Given the description of an element on the screen output the (x, y) to click on. 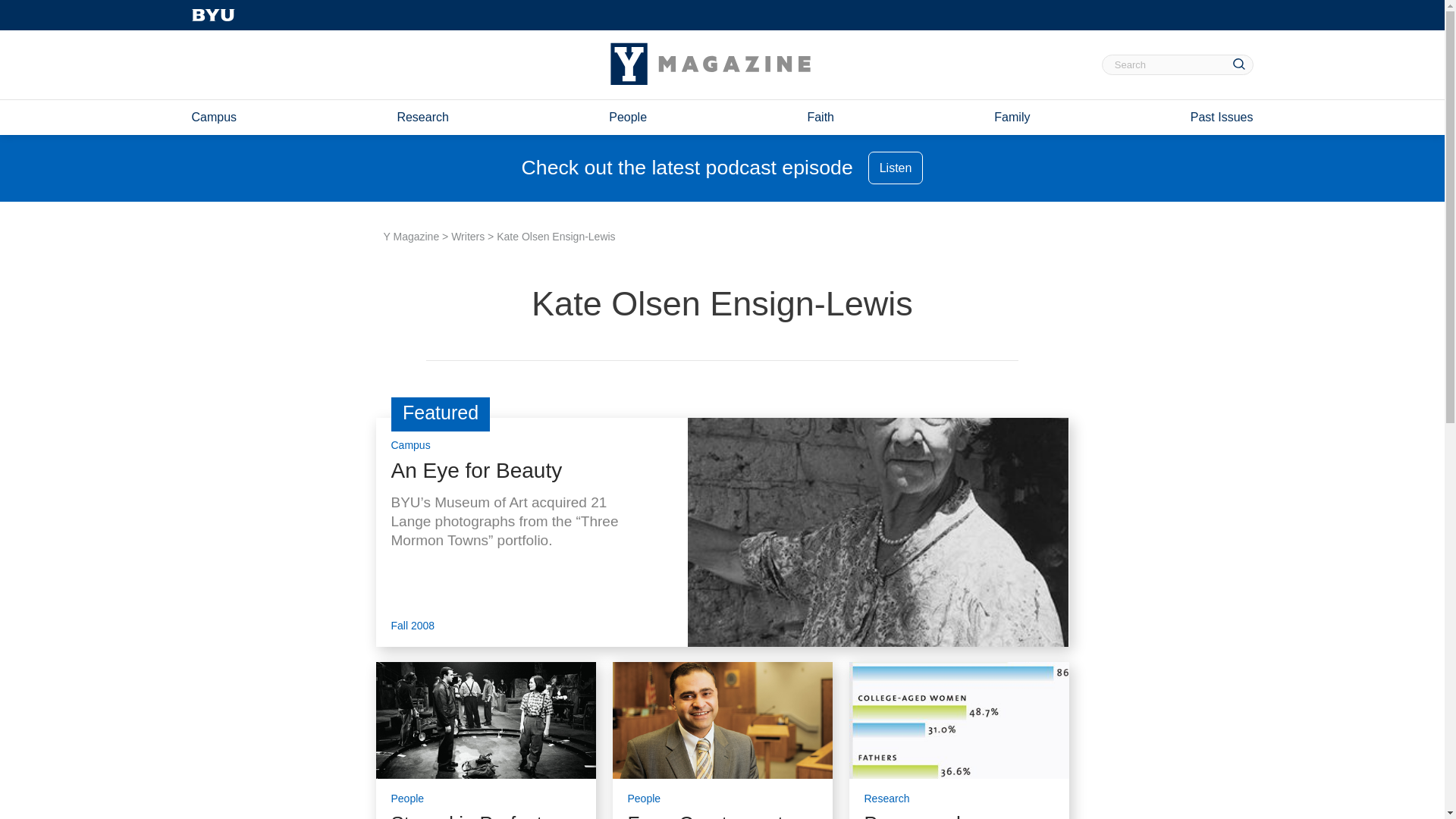
Check out the latest podcast episode (687, 167)
People (644, 794)
Research (887, 794)
Campus (410, 437)
Writers (467, 236)
Listen (895, 168)
People (627, 117)
Past Issues (1222, 117)
Fall 2008 (413, 623)
People (408, 794)
